Given the description of an element on the screen output the (x, y) to click on. 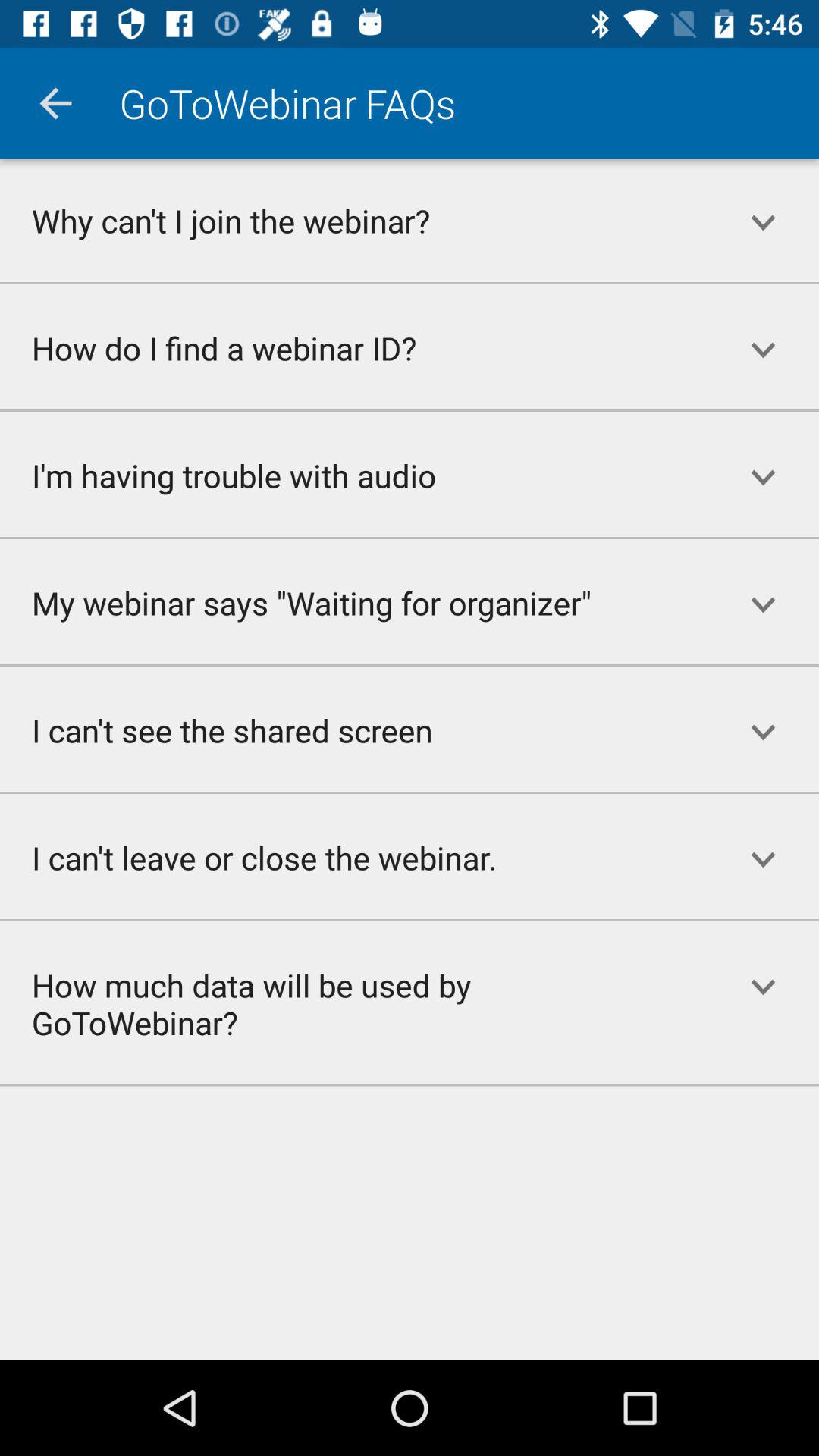
select how do i icon (353, 347)
